Given the description of an element on the screen output the (x, y) to click on. 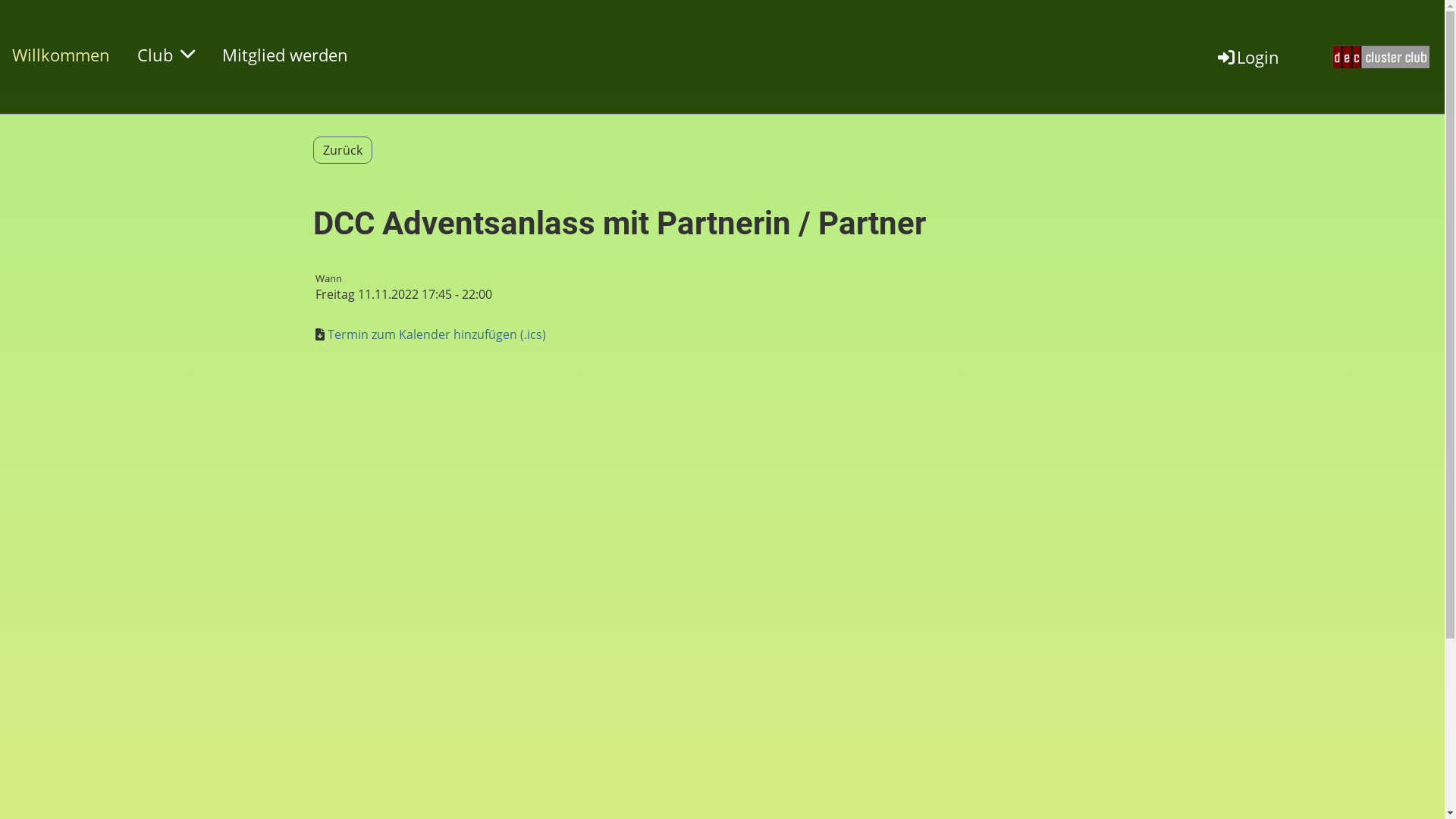
Willkommen Element type: text (61, 54)
Club Element type: text (166, 54)
Login Element type: text (1247, 56)
Mitglied werden Element type: text (285, 54)
